Given the description of an element on the screen output the (x, y) to click on. 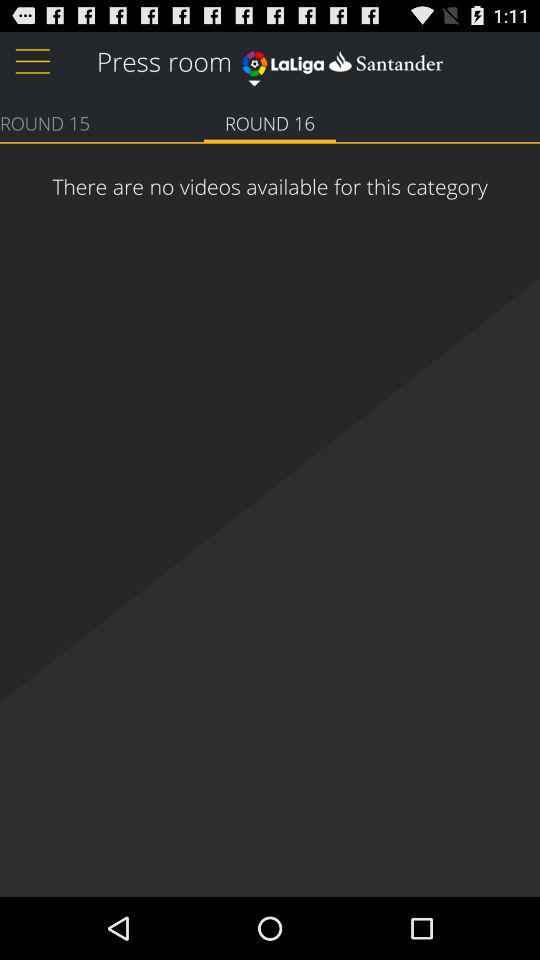
select the round 15 icon (45, 122)
